Given the description of an element on the screen output the (x, y) to click on. 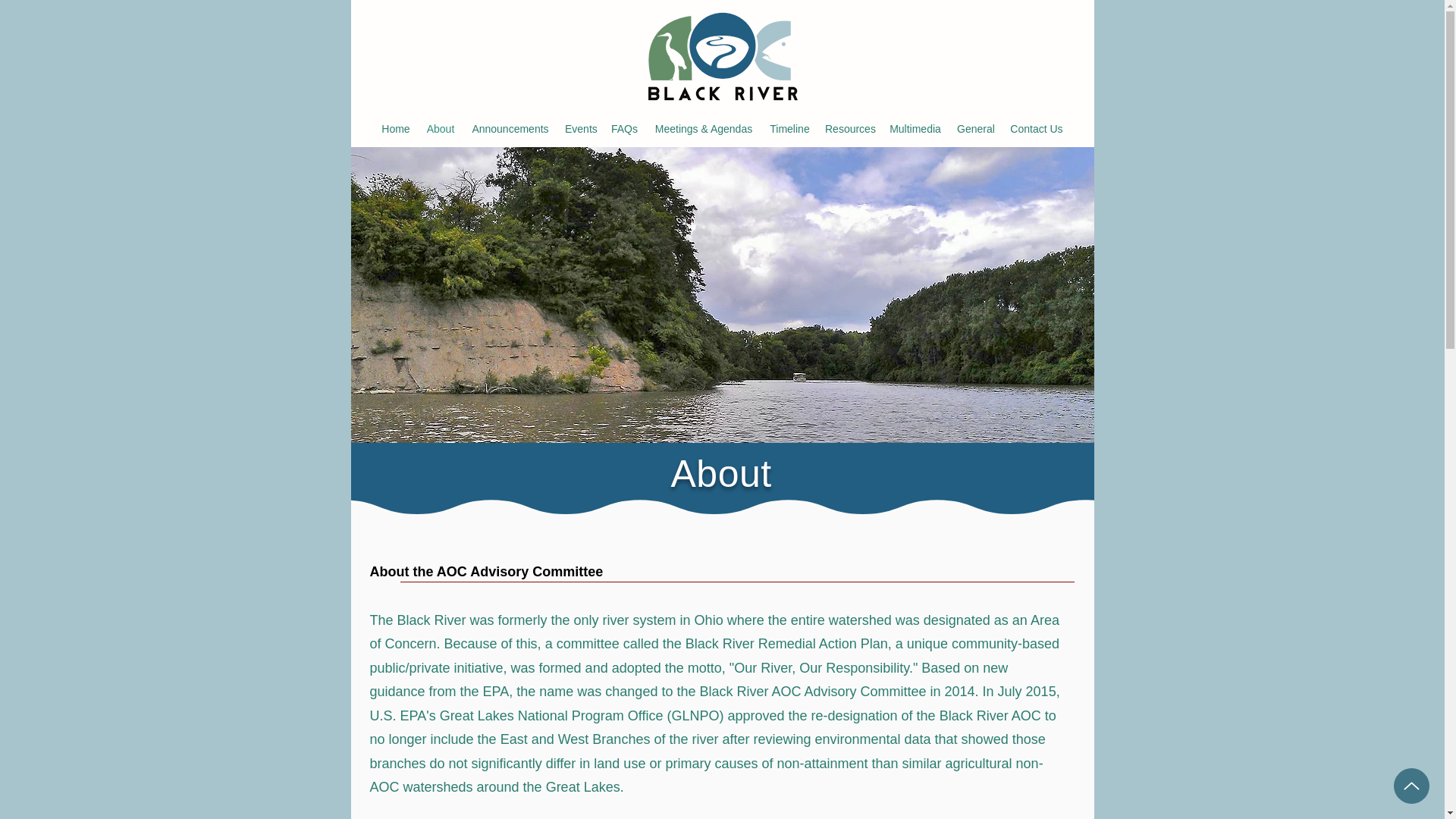
Multimedia (914, 128)
General (976, 128)
FAQs (624, 128)
Events (580, 128)
About (440, 128)
Announcements (510, 128)
Contact Us (1036, 128)
Resources (848, 128)
Timeline (788, 128)
Home (395, 128)
